Given the description of an element on the screen output the (x, y) to click on. 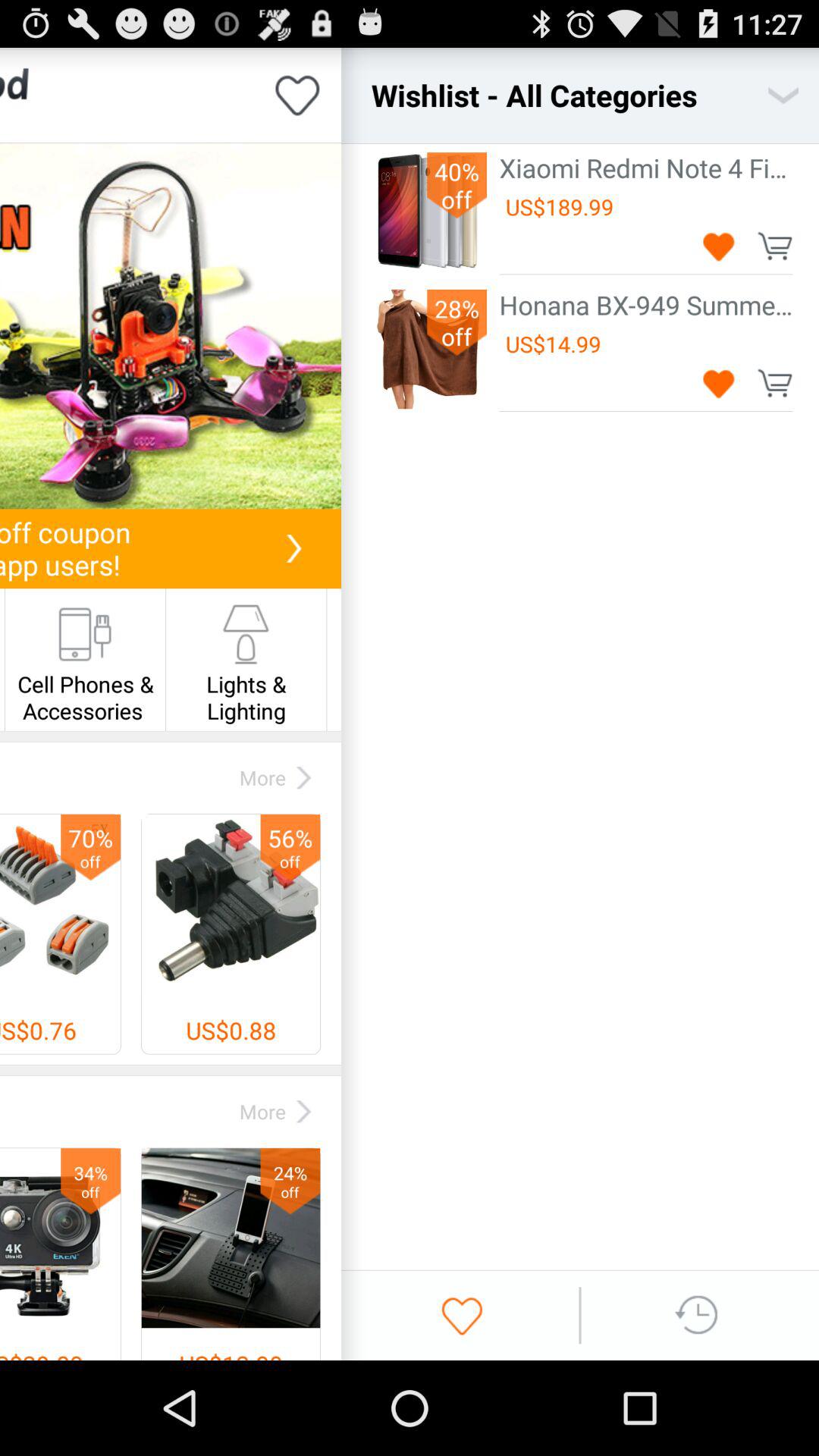
scroll until 40%
off icon (456, 185)
